Given the description of an element on the screen output the (x, y) to click on. 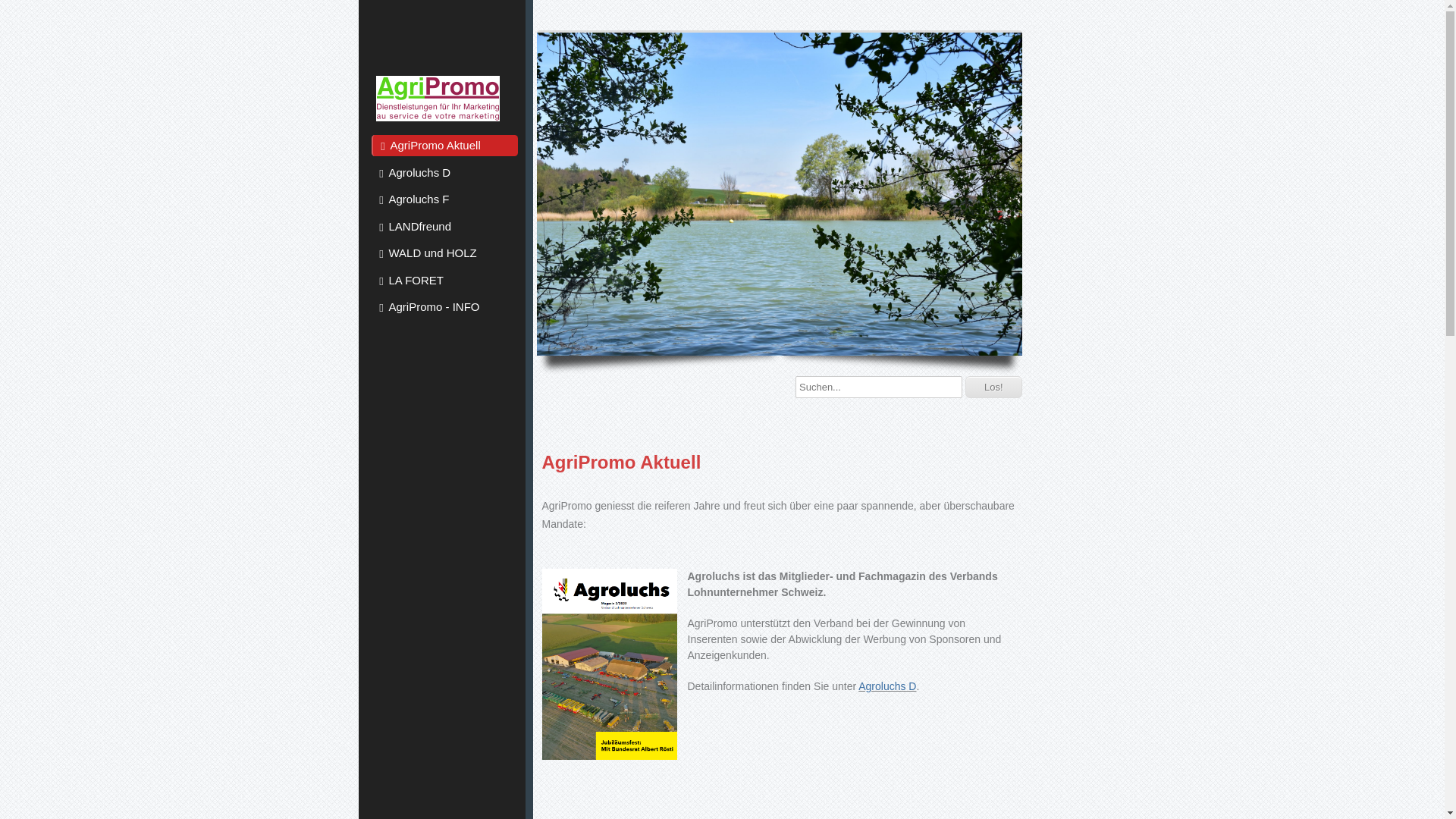
LA FORET Element type: text (444, 280)
Agroluchs D Element type: text (444, 172)
LANDfreund Element type: text (444, 225)
AgriPromo Aktuell Element type: text (444, 145)
WALD und HOLZ Element type: text (444, 252)
AgriPromo - INFO Element type: text (444, 306)
Agroluchs D Element type: text (887, 686)
Agroluchs F Element type: text (444, 199)
Los! Element type: text (993, 387)
